Given the description of an element on the screen output the (x, y) to click on. 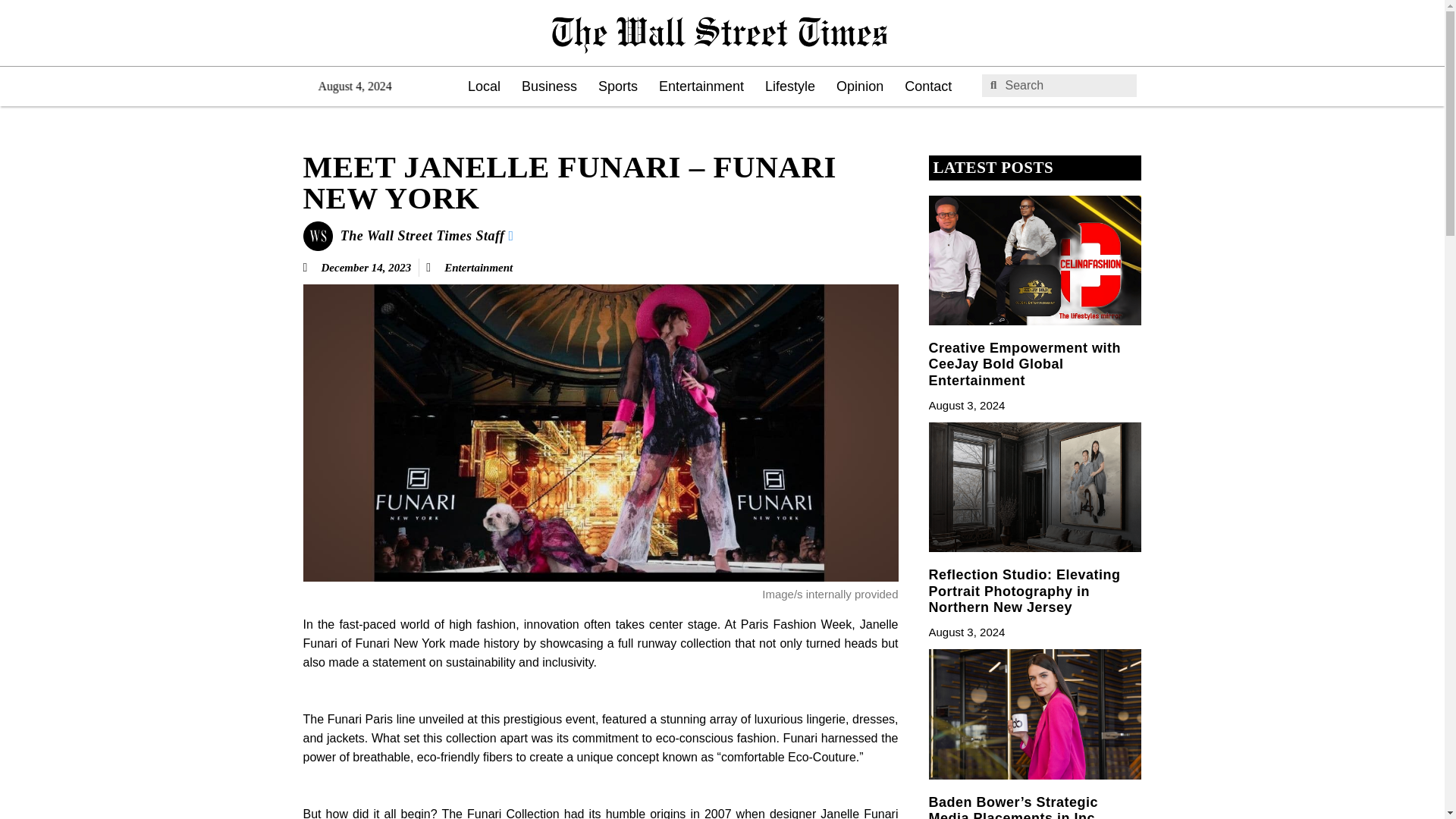
The Wall Street Times Staff (426, 235)
Contact (927, 85)
December 14, 2023 (357, 267)
Sports (617, 85)
Entertainment (700, 85)
Local (484, 85)
Opinion (859, 85)
Business (549, 85)
Lifestyle (789, 85)
